Given the description of an element on the screen output the (x, y) to click on. 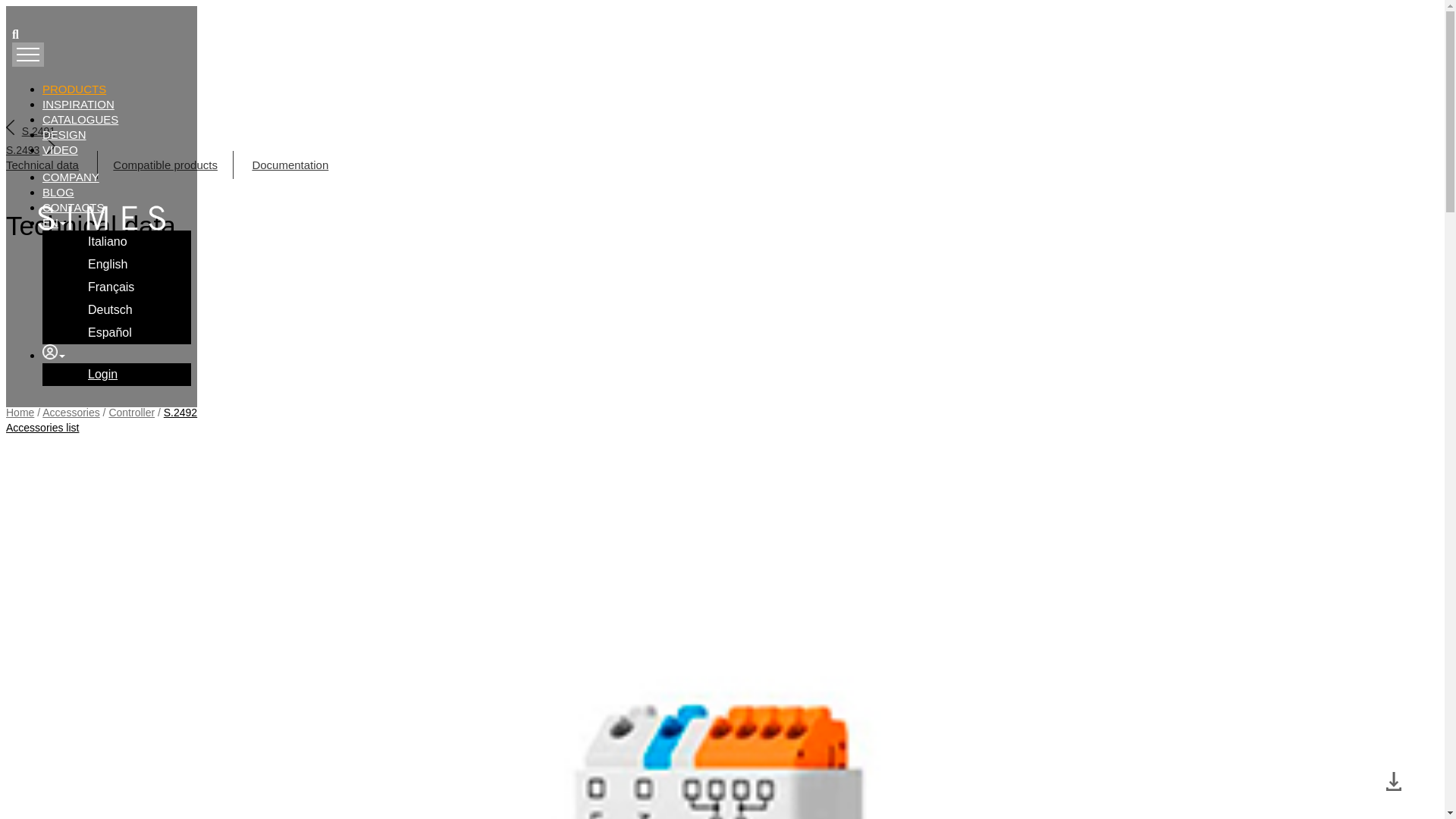
Documentation (290, 164)
Controller (130, 412)
Technical data (41, 164)
Home (19, 412)
Accessories (70, 412)
DESIGN (63, 133)
S.2493 (30, 150)
Accessories list (41, 427)
CATALOGUES (79, 119)
Login (131, 374)
